Given the description of an element on the screen output the (x, y) to click on. 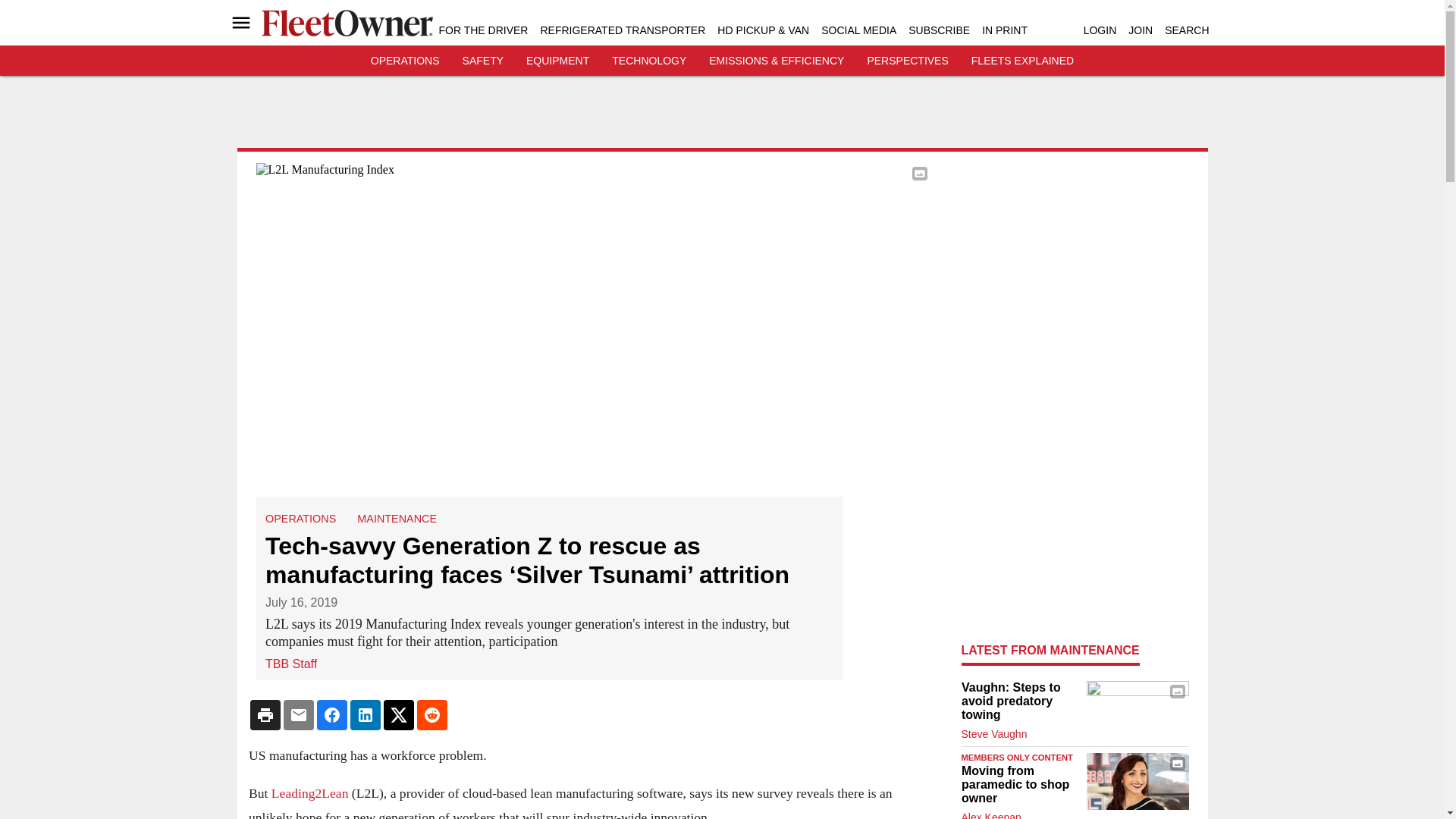
SAFETY (483, 60)
OPERATIONS (405, 60)
EQUIPMENT (557, 60)
IN PRINT (1004, 30)
REFRIGERATED TRANSPORTER (622, 30)
PERSPECTIVES (906, 60)
SUBSCRIBE (938, 30)
FLEETS EXPLAINED (1022, 60)
SEARCH (1186, 30)
